Given the description of an element on the screen output the (x, y) to click on. 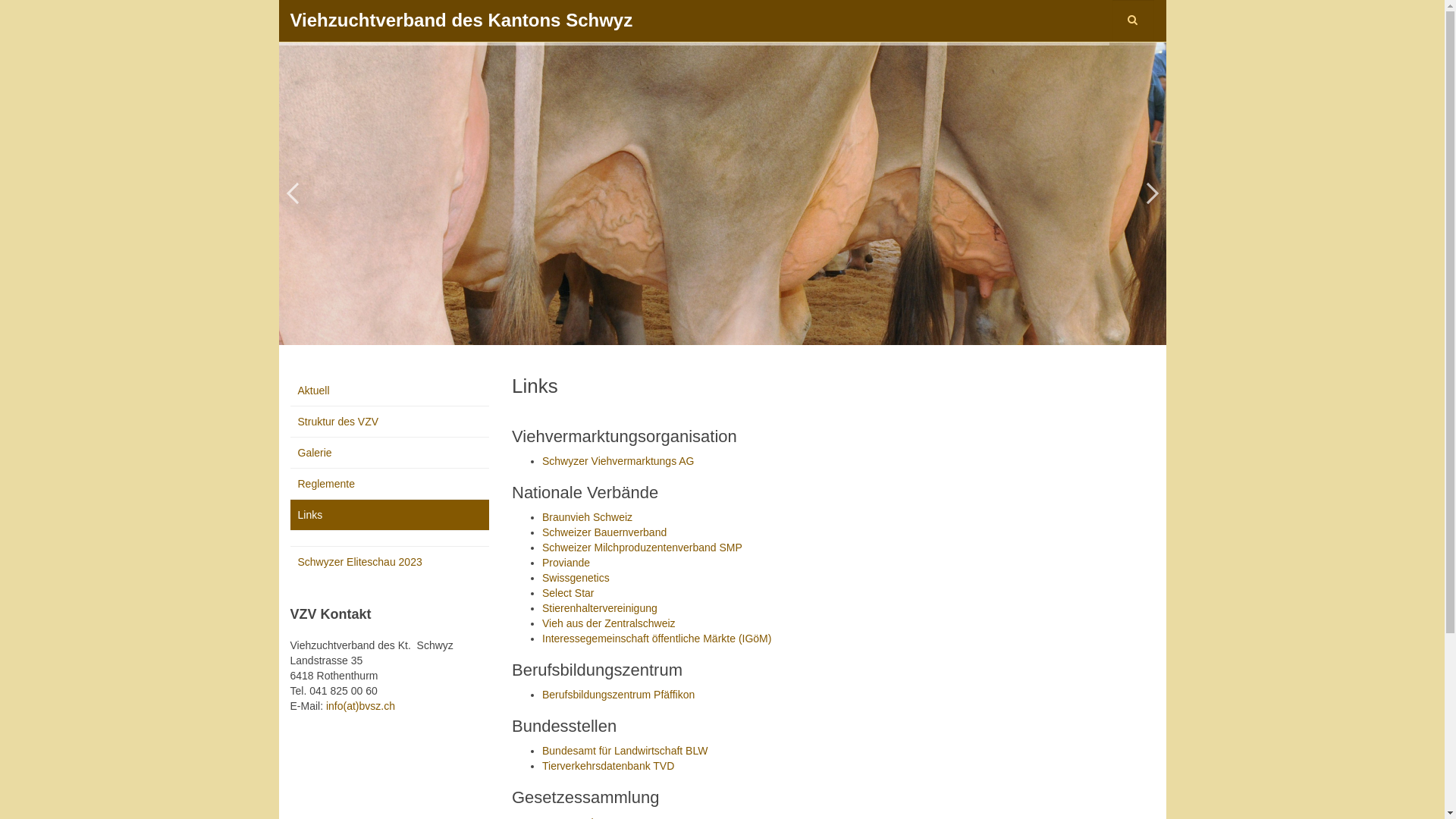
info(at)bvsz.ch Element type: text (360, 705)
Struktur des VZV Element type: text (389, 421)
Schweizer Bauernverband Element type: text (604, 532)
Select Star Element type: text (567, 592)
Reglemente Element type: text (389, 483)
Tierverkehrsdatenbank TVD Element type: text (608, 765)
Braunvieh Schweiz Element type: text (587, 517)
Schwyzer Eliteschau 2023 Element type: text (389, 561)
Swissgenetics Element type: text (575, 577)
Schwyzer Viehvermarktungs AG Element type: text (618, 461)
Galerie Element type: text (389, 452)
Schweizer Milchproduzentenverband SMP Element type: text (642, 547)
Links Element type: text (389, 514)
Aktuell Element type: text (389, 390)
Vieh aus der Zentralschweiz Element type: text (608, 623)
Viehzuchtverband des Kantons Schwyz Element type: text (460, 14)
Proviande Element type: text (565, 562)
Stierenhaltervereinigung Element type: text (599, 608)
